Given the description of an element on the screen output the (x, y) to click on. 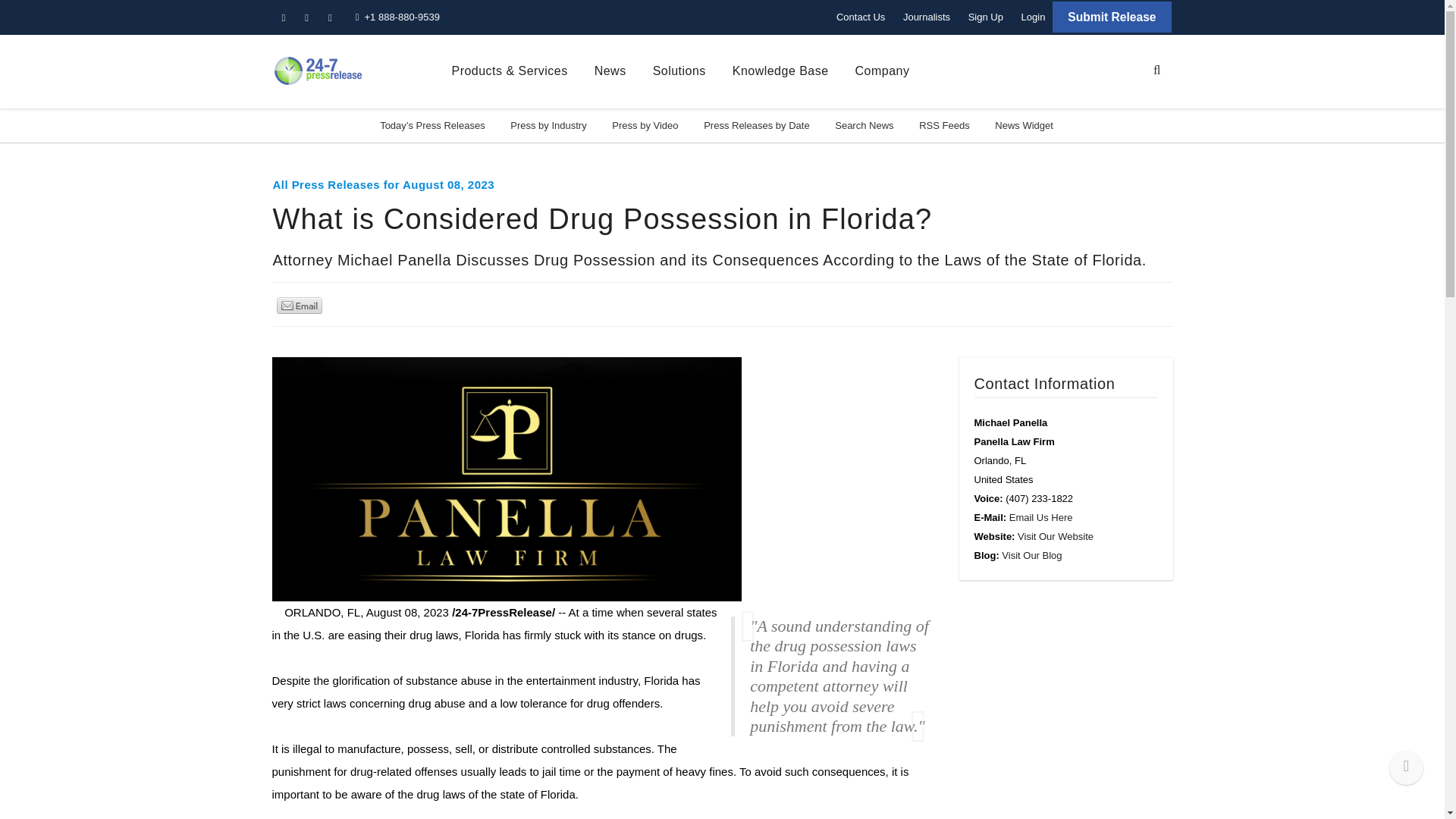
Submit Release (1111, 16)
Company (882, 71)
Knowledge Base (780, 71)
Solutions (679, 71)
Sign Up (985, 16)
Contact Us (860, 16)
Journalists (926, 16)
Login (1032, 16)
